Given the description of an element on the screen output the (x, y) to click on. 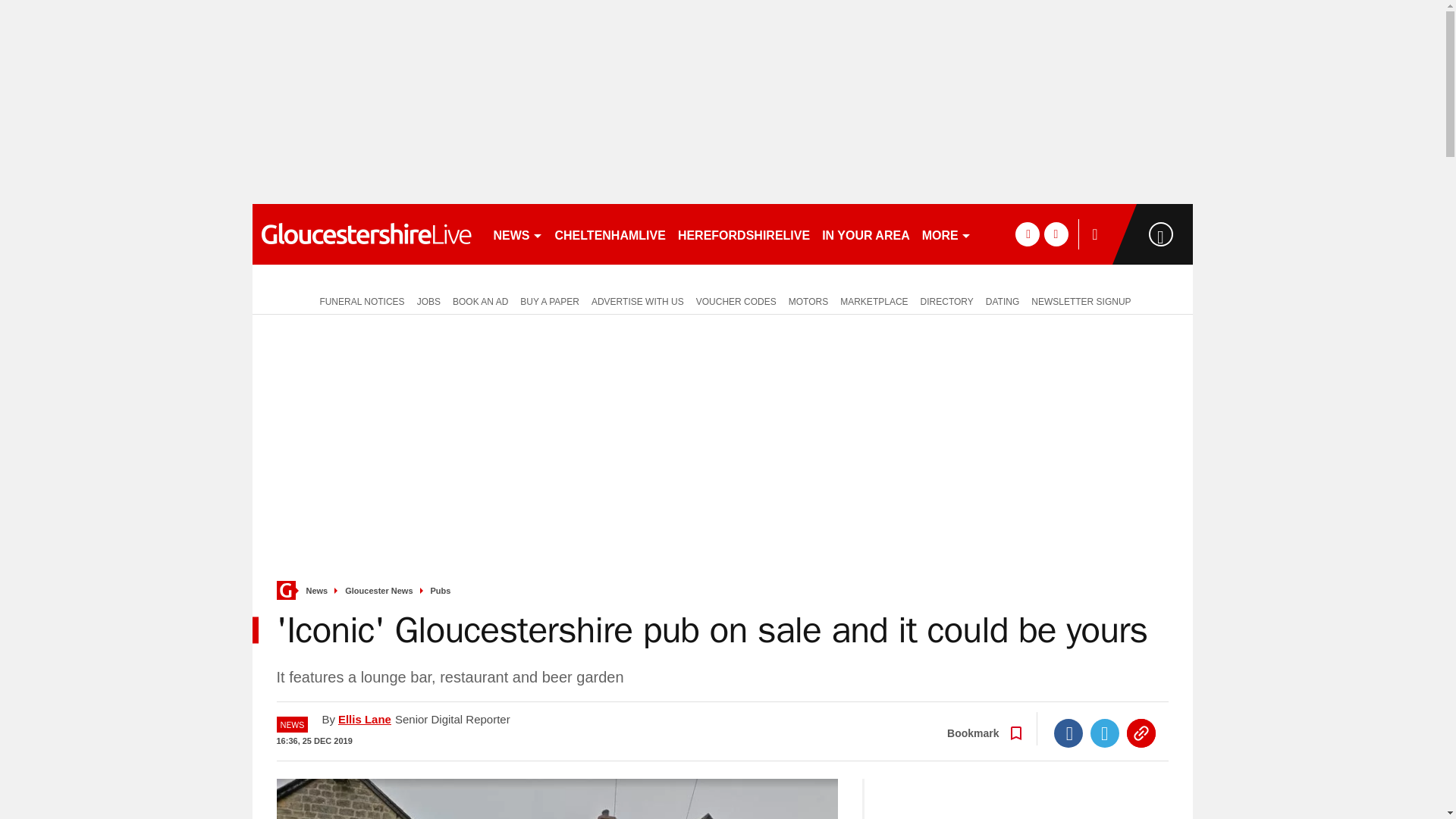
facebook (1026, 233)
gloucestershirelive (365, 233)
IN YOUR AREA (865, 233)
NEWS (517, 233)
Twitter (1104, 733)
twitter (1055, 233)
Facebook (1068, 733)
MORE (945, 233)
HEREFORDSHIRELIVE (743, 233)
CHELTENHAMLIVE (609, 233)
